Given the description of an element on the screen output the (x, y) to click on. 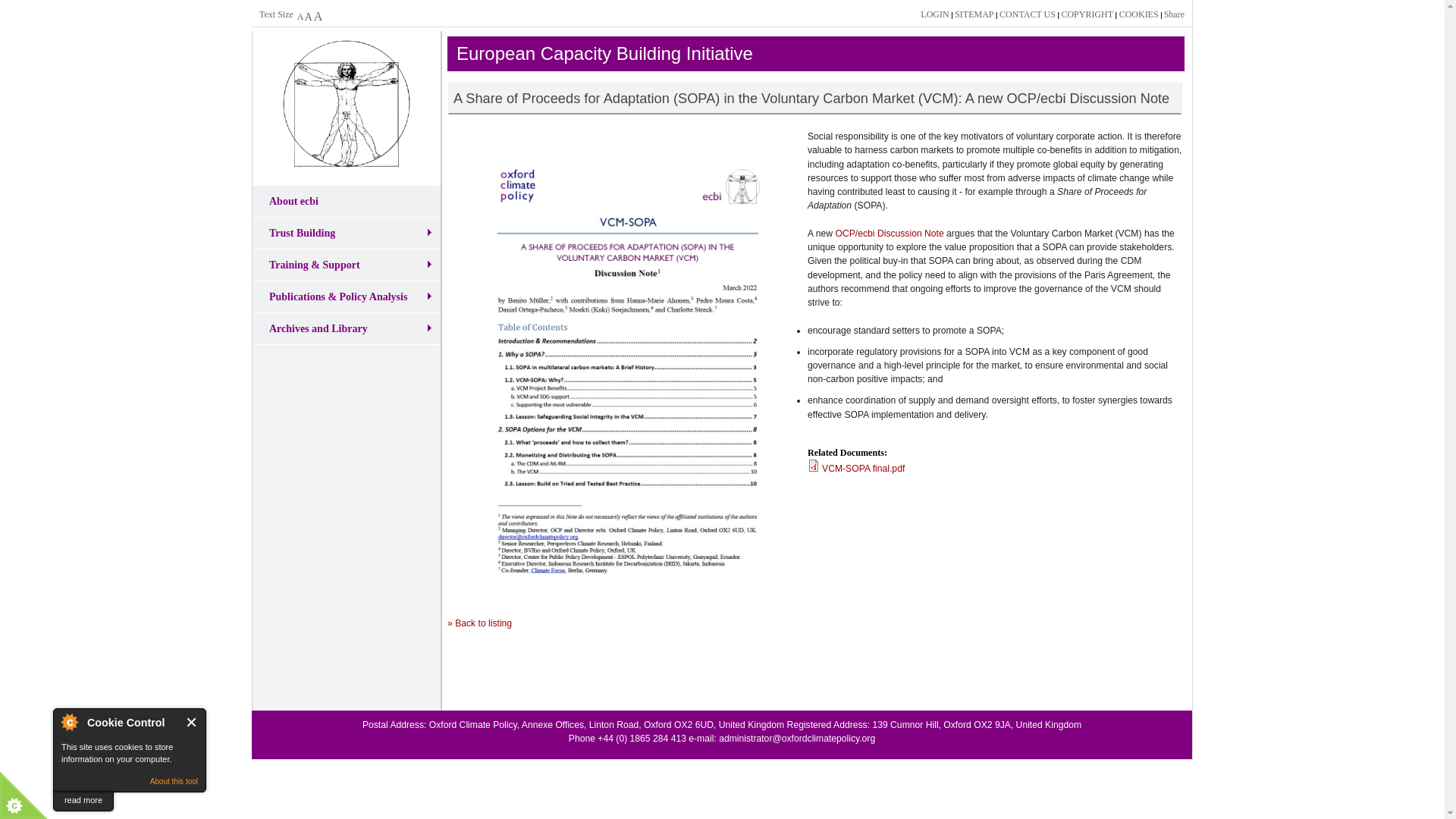
Share (1173, 14)
CONTACT US (1026, 14)
LOGIN (934, 14)
read more (82, 801)
About Cookie Control (68, 721)
SITEMAP (973, 14)
About Cookie Control (68, 721)
COPYRIGHT (1087, 14)
Close (191, 722)
About this tool (173, 781)
COOKIES (1138, 14)
